Given the description of an element on the screen output the (x, y) to click on. 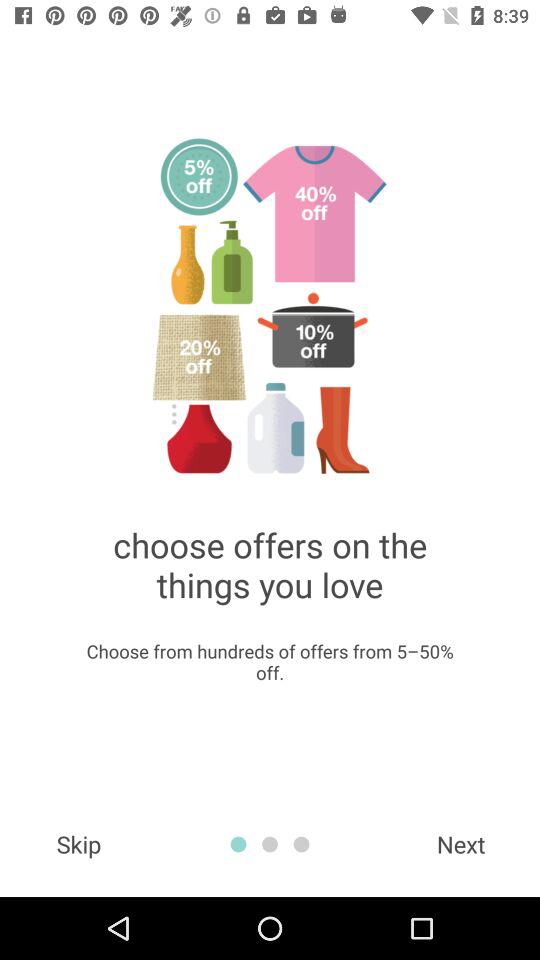
turn on the item below the choose from hundreds icon (78, 844)
